Given the description of an element on the screen output the (x, y) to click on. 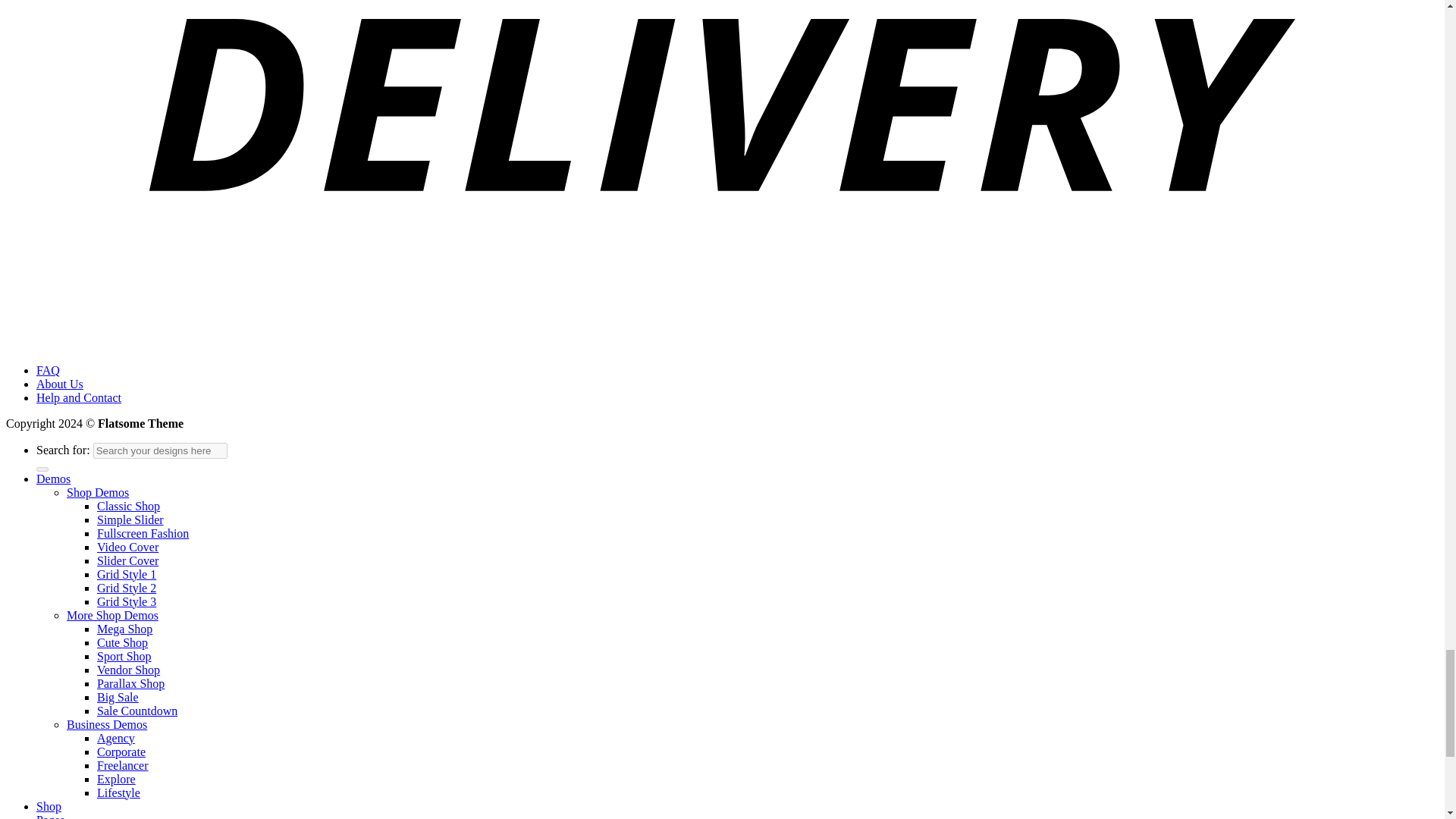
Shop Demos (97, 491)
FAQ (47, 369)
Classic Shop (128, 504)
Grid Style 2 (126, 586)
Search (42, 468)
Help and Contact (78, 397)
Fullscreen Fashion (143, 532)
Video Cover (127, 545)
Simple Slider (130, 518)
Demos (52, 477)
Slider Cover (127, 559)
Grid Style 1 (126, 573)
Grid Style 3 (126, 600)
About Us (59, 383)
